Given the description of an element on the screen output the (x, y) to click on. 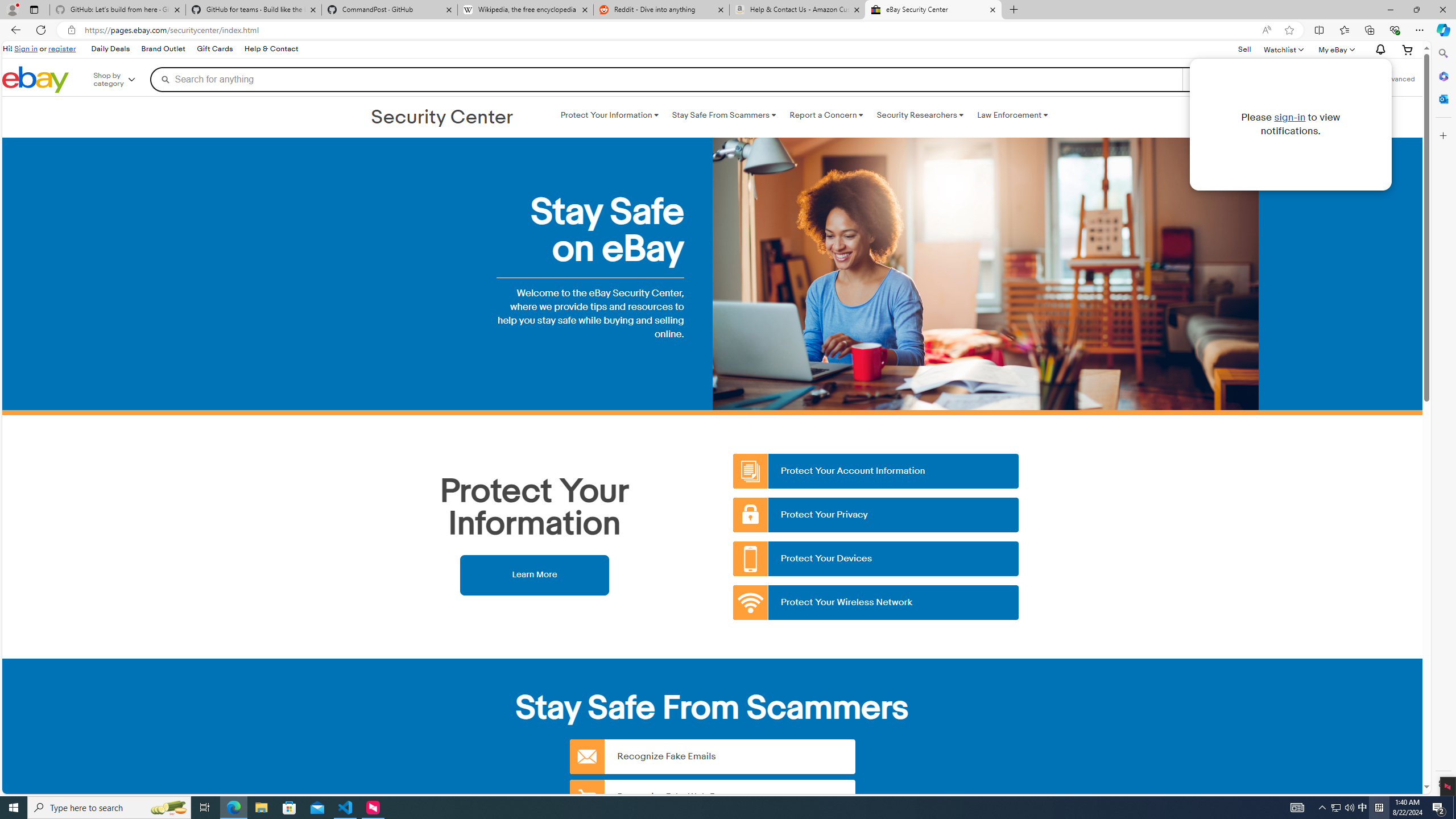
Help & Contact Us - Amazon Customer Service - Sleeping (797, 9)
My eBayExpand My eBay (1335, 49)
Wikipedia, the free encyclopedia (525, 9)
Protect Your Devices (876, 558)
Recognize Fake Emails (712, 756)
Security Researchers  (919, 115)
Learn More (534, 574)
